Given the description of an element on the screen output the (x, y) to click on. 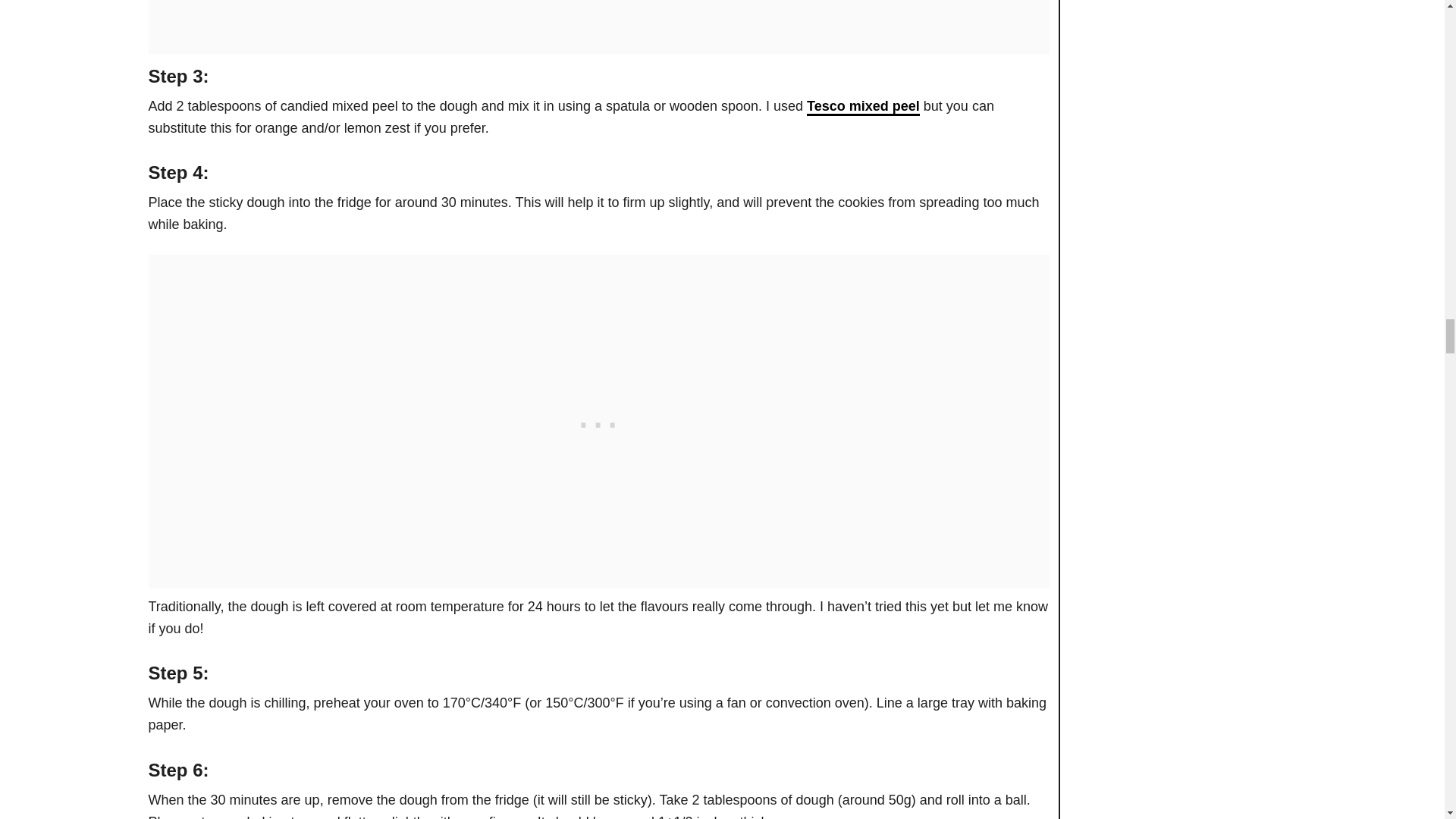
Tesco mixed peel (863, 107)
